Given the description of an element on the screen output the (x, y) to click on. 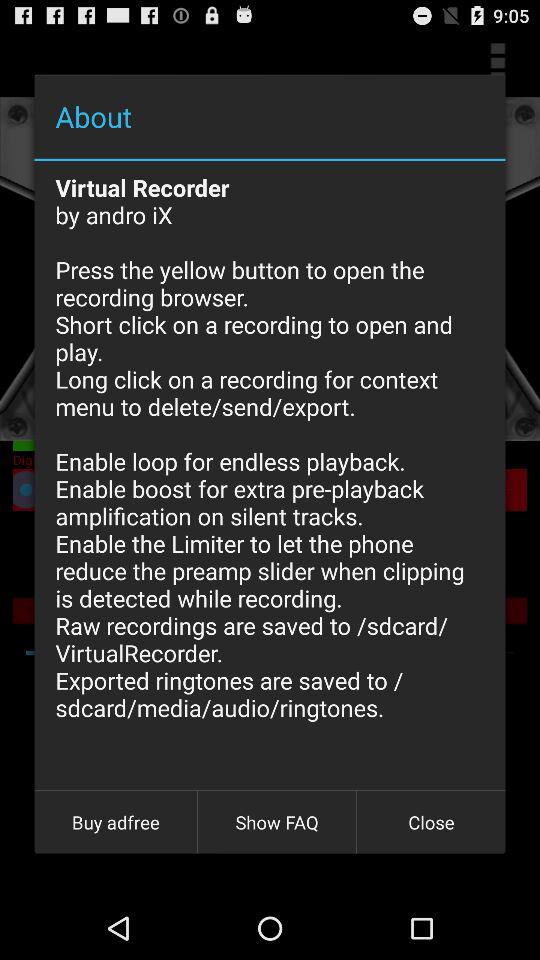
tap the close button (431, 821)
